Given the description of an element on the screen output the (x, y) to click on. 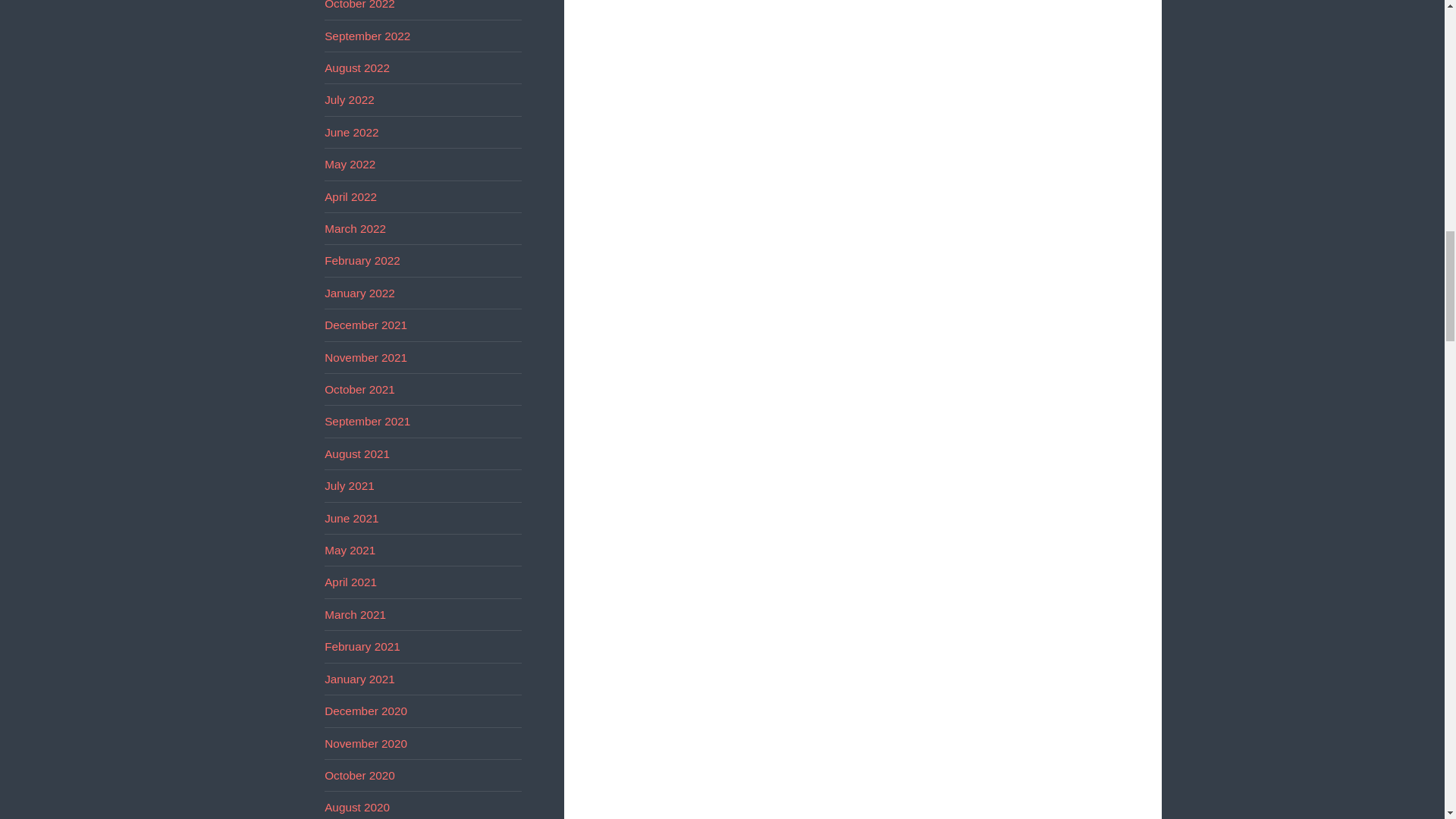
September 2022 (367, 35)
April 2022 (350, 196)
June 2022 (351, 132)
March 2022 (354, 228)
May 2022 (349, 164)
October 2022 (359, 4)
February 2022 (362, 259)
August 2022 (357, 67)
July 2022 (349, 99)
January 2022 (359, 292)
